Given the description of an element on the screen output the (x, y) to click on. 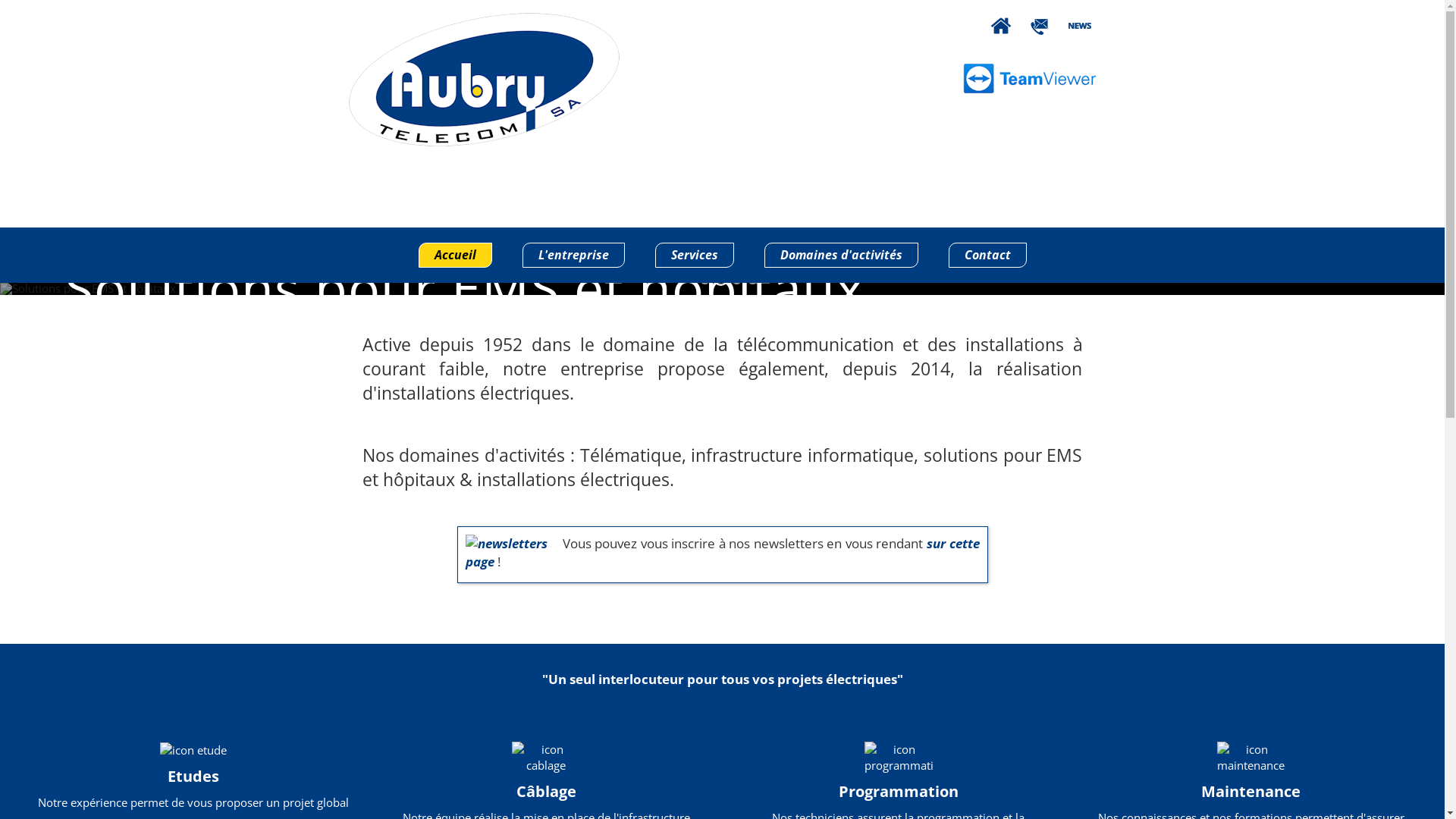
Services Element type: text (694, 254)
Accueil Element type: text (455, 254)
L'entreprise Element type: text (572, 254)
sur cette page Element type: text (722, 552)
Contact Element type: text (986, 254)
